Given the description of an element on the screen output the (x, y) to click on. 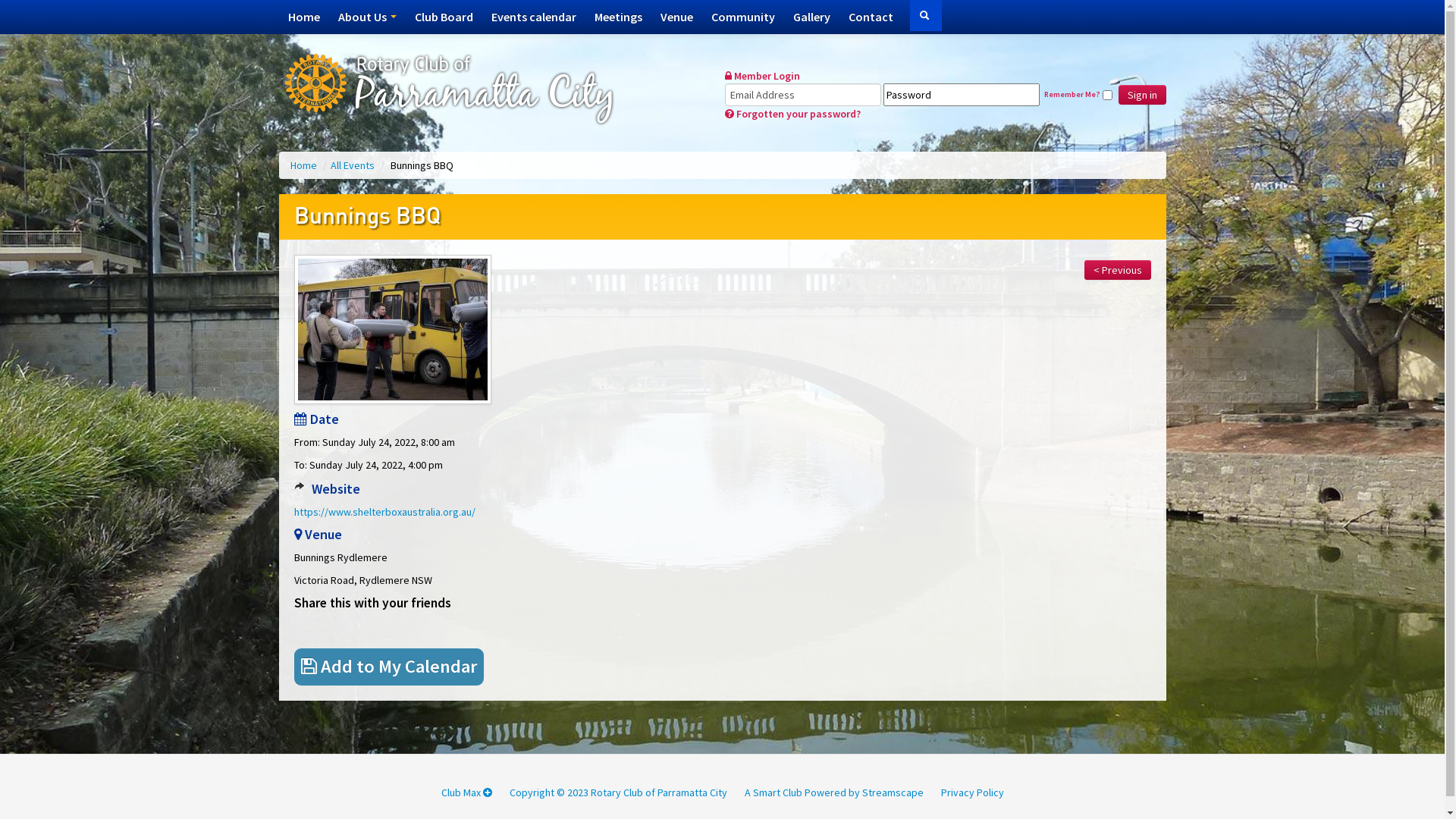
Sign in Element type: text (1141, 94)
All Events Element type: text (353, 165)
Home Element type: text (303, 165)
Club Board Element type: text (442, 16)
Home Element type: text (304, 16)
Events calendar Element type: text (533, 16)
A Smart Club Powered by Streamscape Element type: text (833, 791)
Privacy Policy Element type: text (971, 791)
Add to My Calendar Element type: text (388, 665)
Community Element type: text (743, 16)
Club Max Element type: text (466, 791)
Meetings Element type: text (618, 16)
< Previous Element type: text (1117, 269)
Contact Element type: text (869, 16)
Venue Element type: text (675, 16)
Password Element type: text (961, 94)
About Us Element type: text (367, 16)
Gallery Element type: text (811, 16)
https://www.shelterboxaustralia.org.au/ Element type: text (384, 511)
Forgotten your password? Element type: text (792, 113)
